Given the description of an element on the screen output the (x, y) to click on. 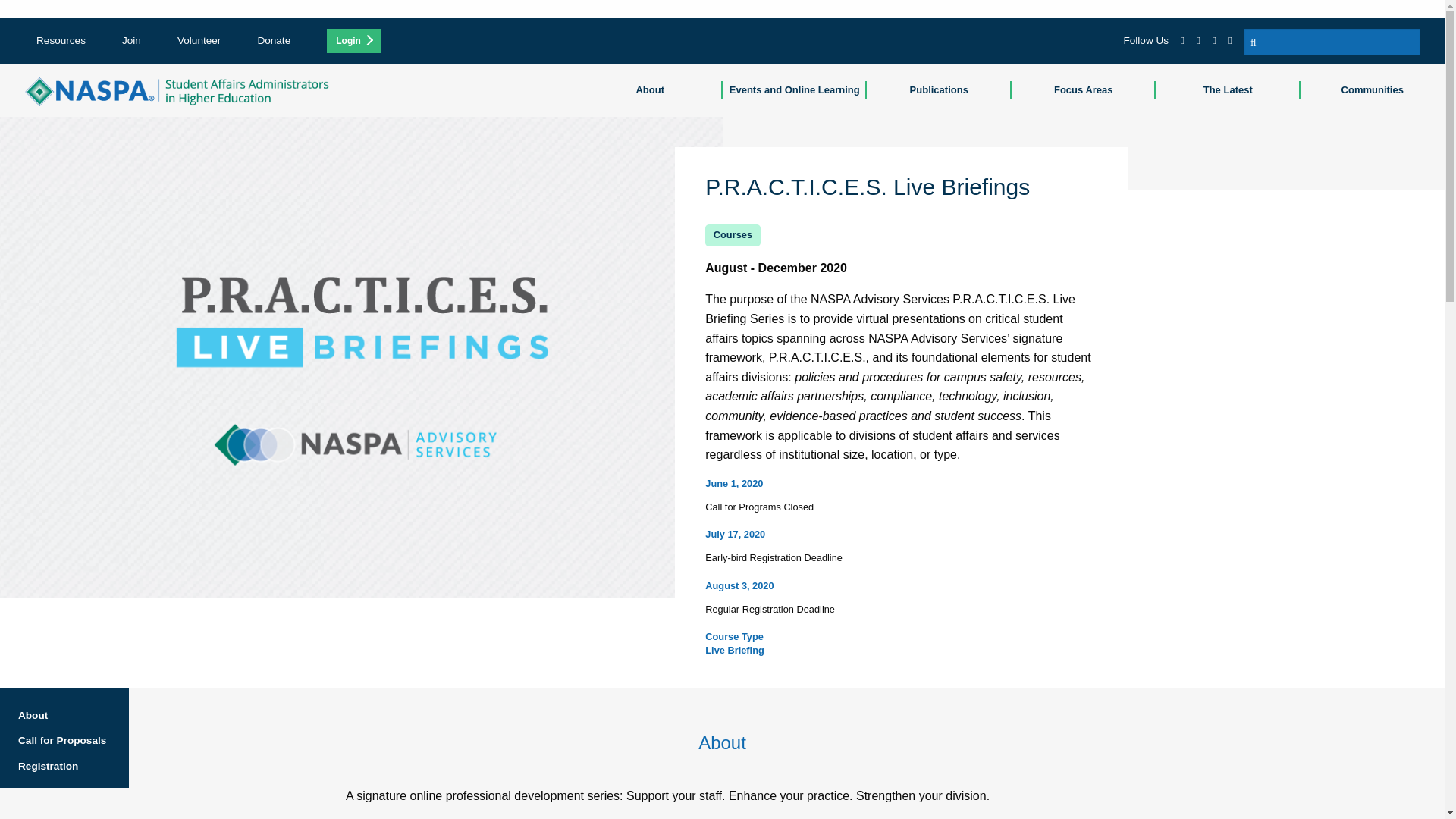
Join (131, 40)
Donate (273, 40)
Resources (60, 40)
About (650, 90)
Volunteer (199, 40)
Events and Online Learning (794, 90)
Login (353, 40)
